Given the description of an element on the screen output the (x, y) to click on. 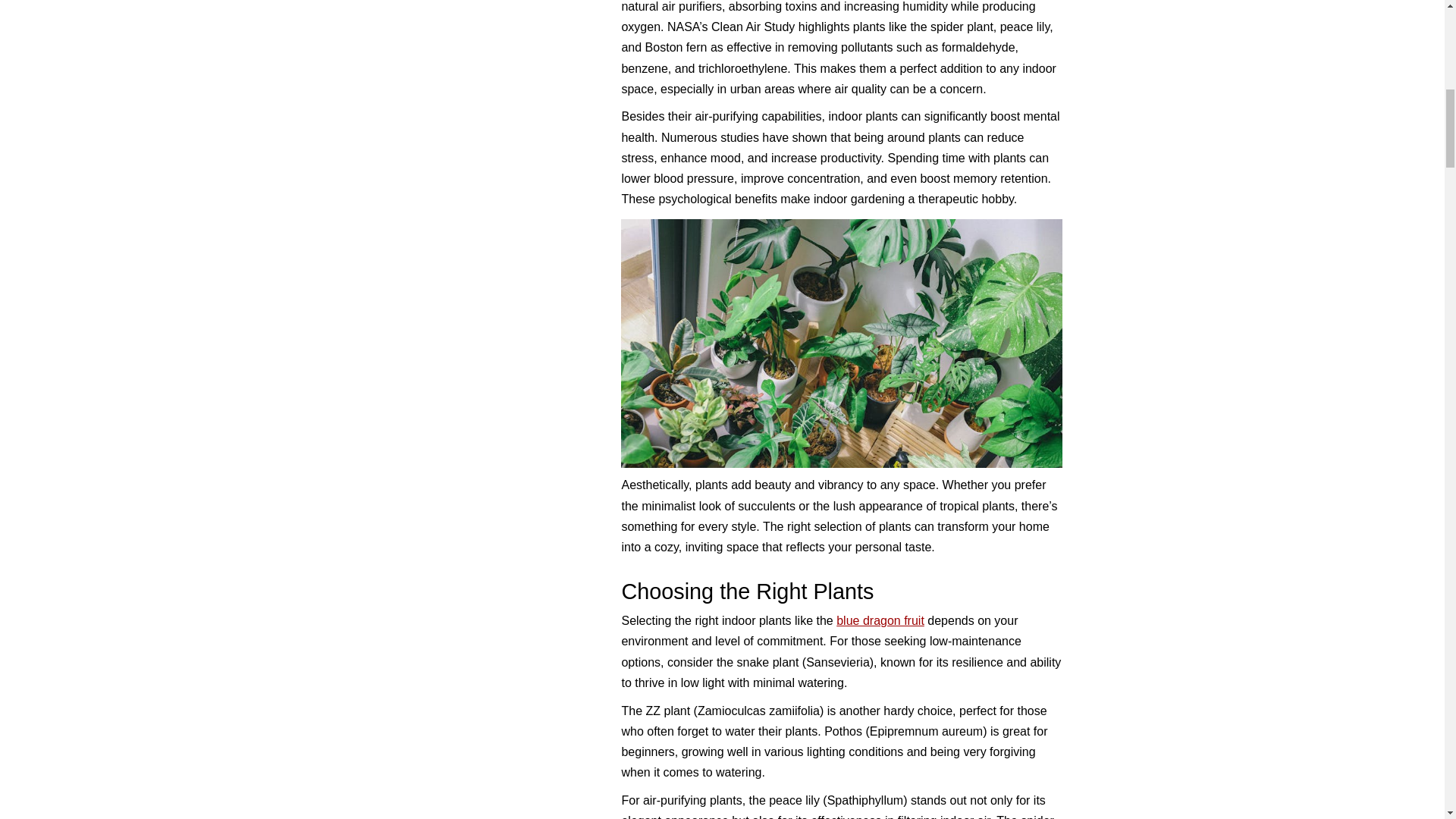
blue dragon fruit (879, 620)
